Given the description of an element on the screen output the (x, y) to click on. 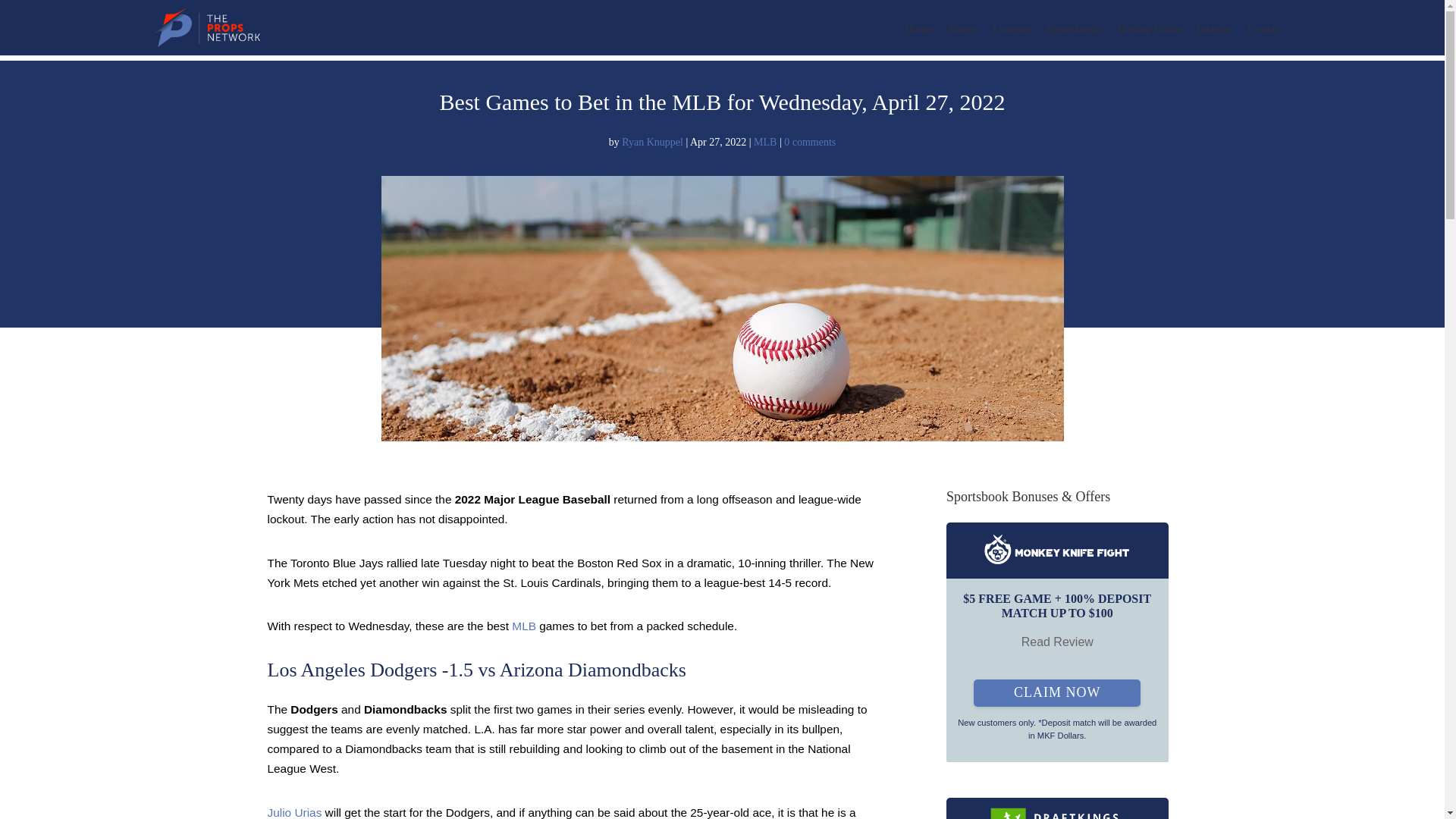
Posts by Ryan Knuppel (651, 142)
Leagues (1012, 36)
Shows (962, 36)
Home (918, 36)
Sportsbooks (1074, 36)
